Given the description of an element on the screen output the (x, y) to click on. 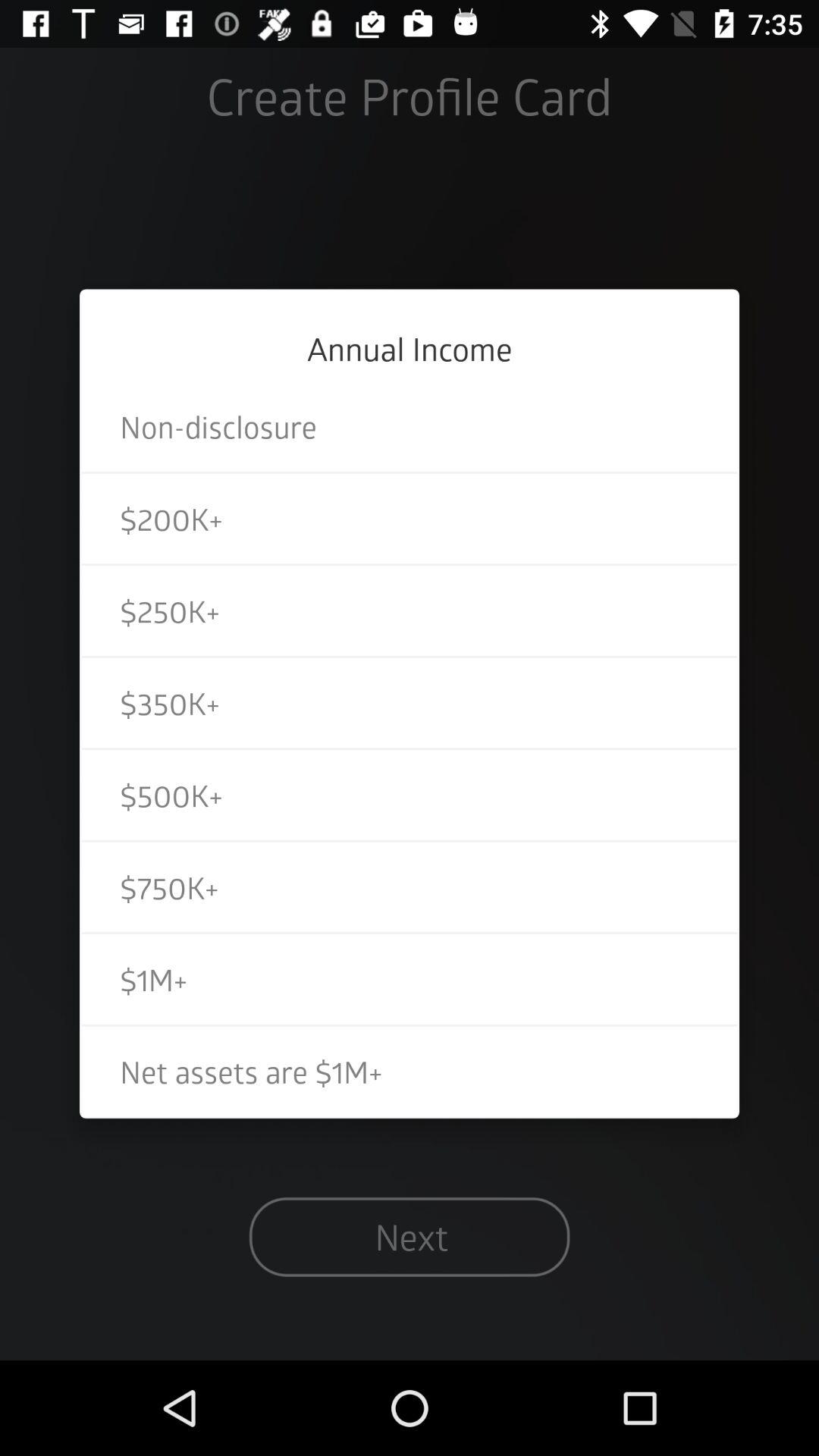
launch $350k+ item (409, 702)
